Given the description of an element on the screen output the (x, y) to click on. 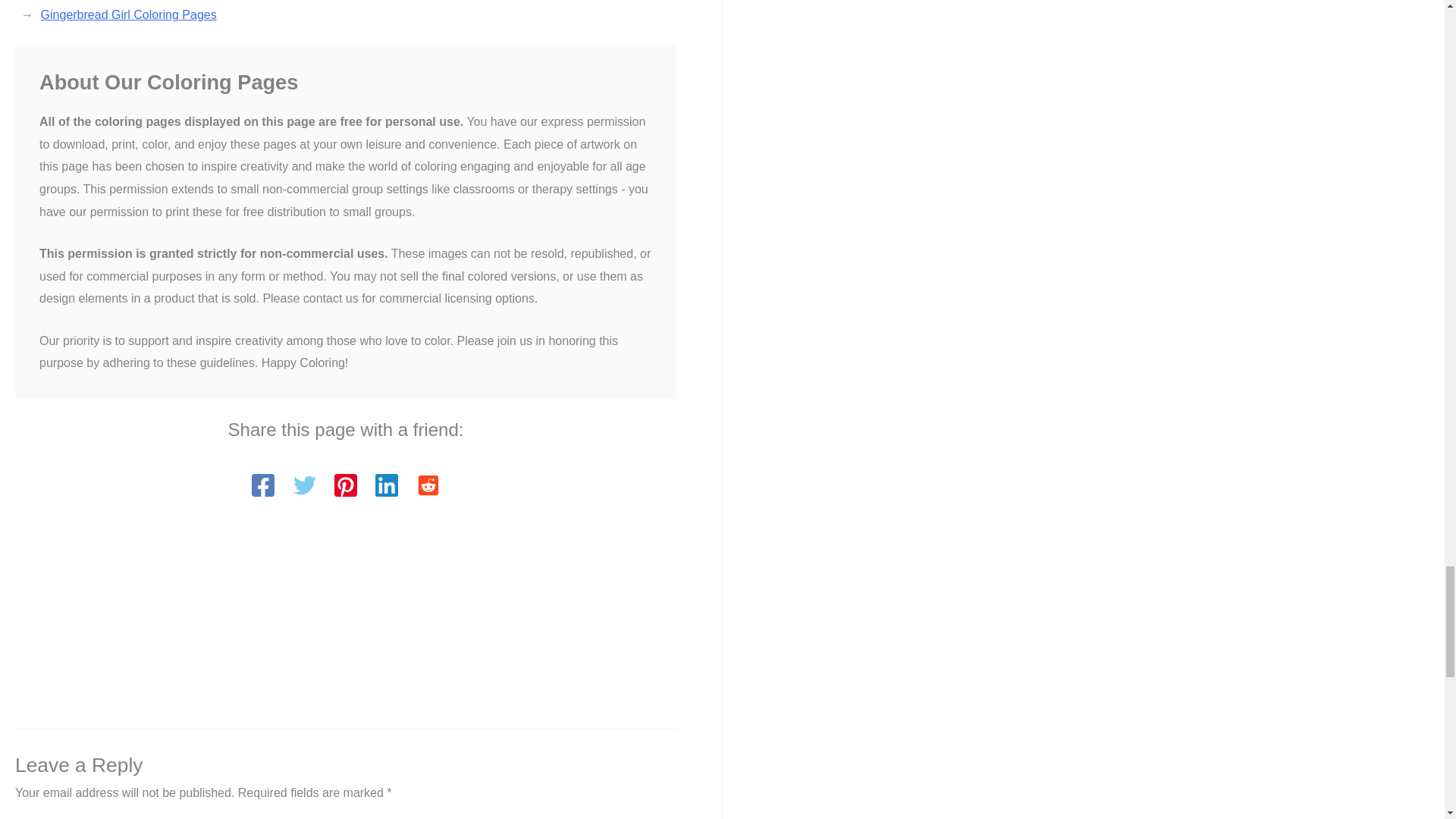
Gingerbread Girl Coloring Pages (128, 14)
